Given the description of an element on the screen output the (x, y) to click on. 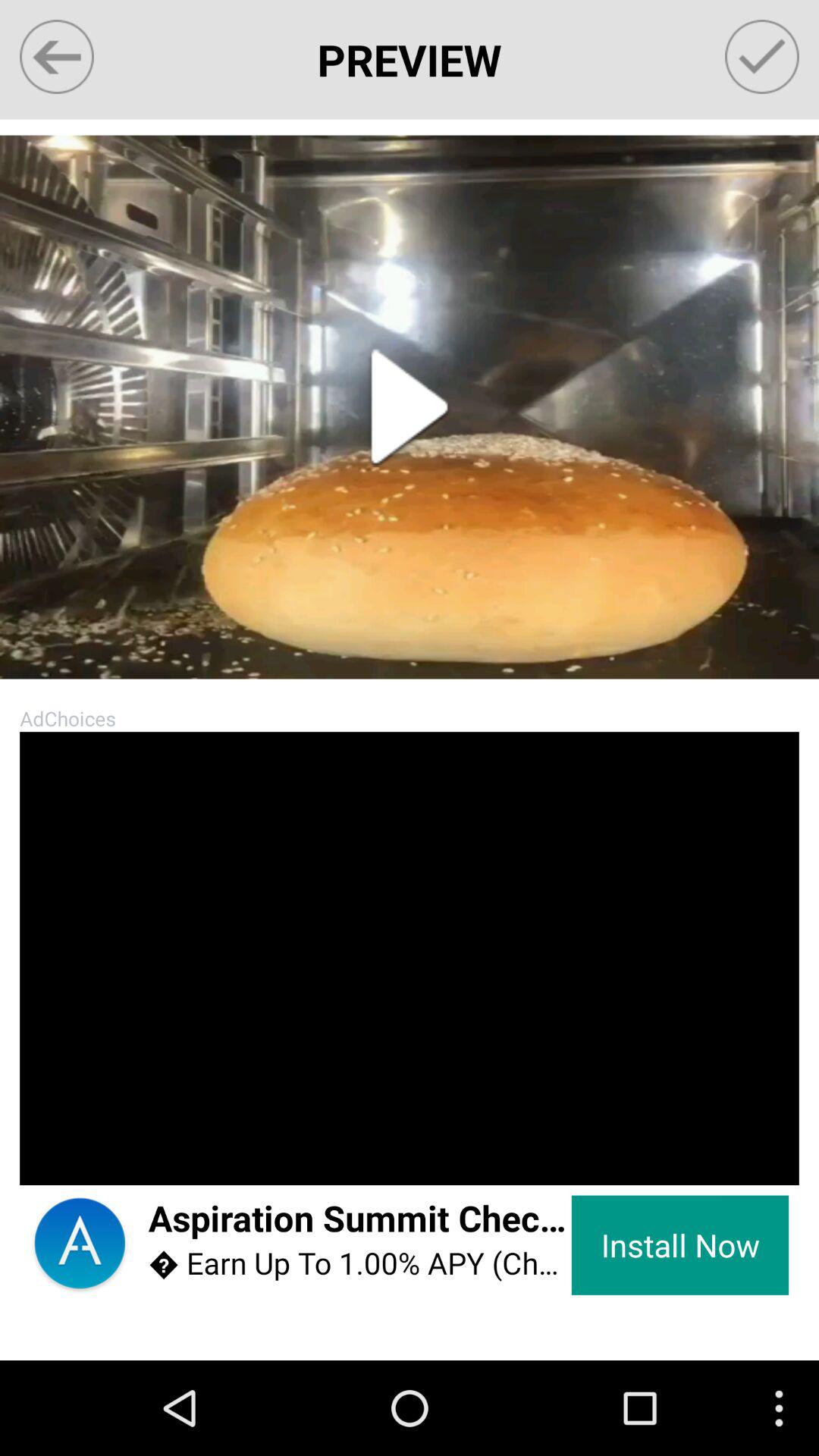
click to save option (762, 56)
